Given the description of an element on the screen output the (x, y) to click on. 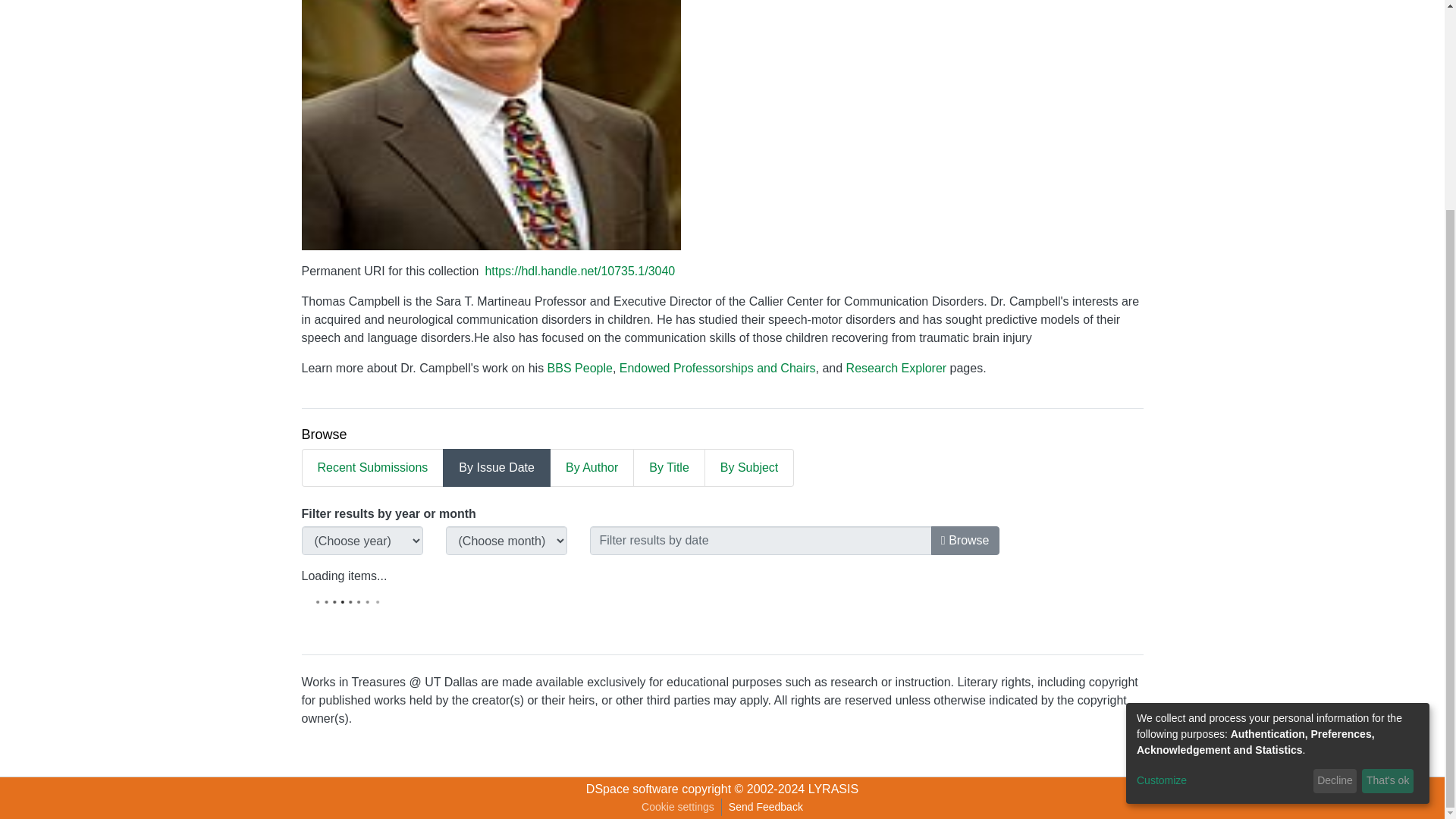
By Author (591, 467)
Research Explorer (896, 367)
Browse (964, 540)
That's ok (1387, 508)
BBS People (579, 367)
LYRASIS (833, 788)
By Subject (748, 467)
Endowed Professorships and Chairs (717, 367)
Cookie settings (677, 806)
Customize (1222, 507)
